Given the description of an element on the screen output the (x, y) to click on. 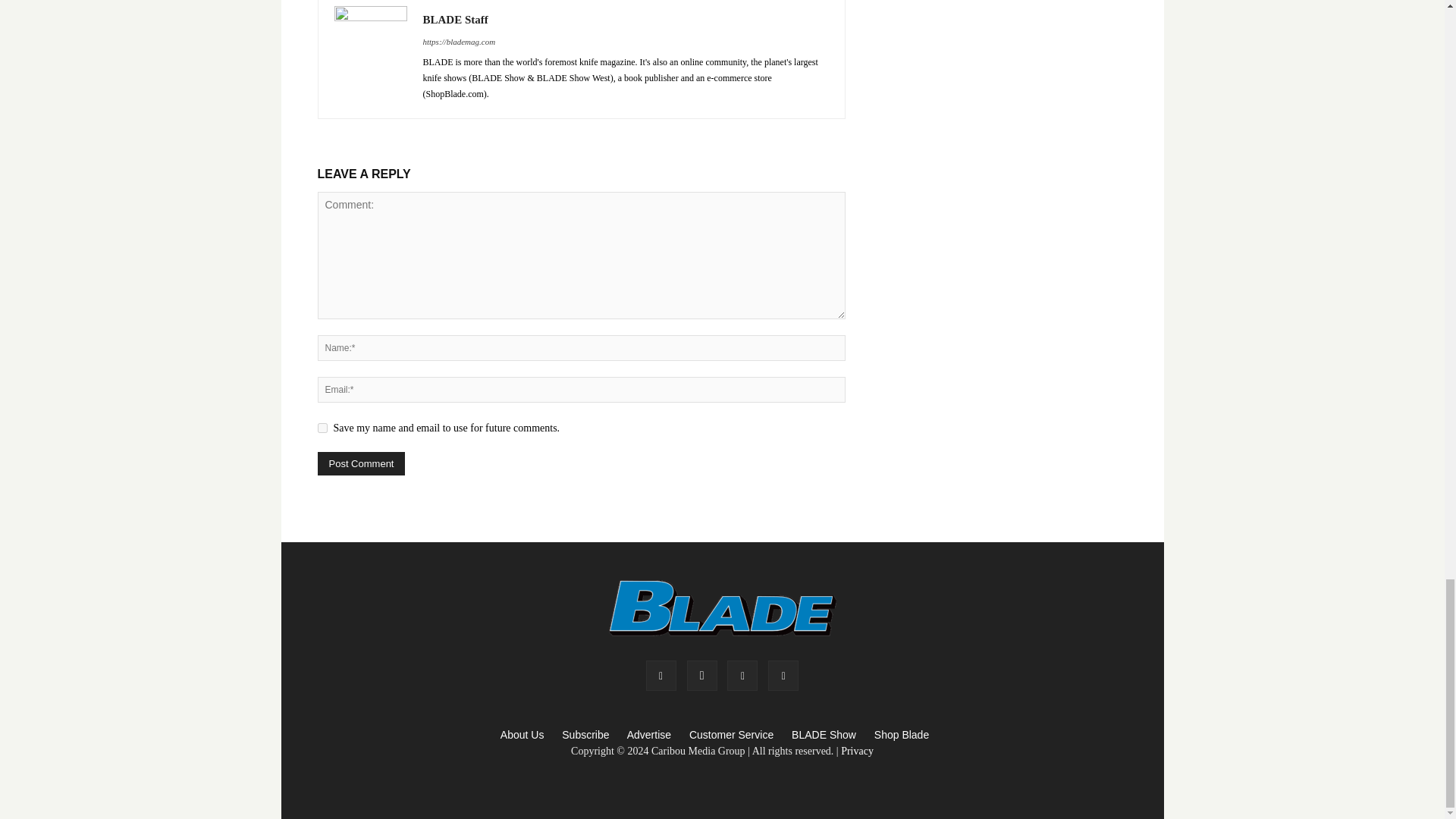
Post Comment (360, 463)
yes (321, 428)
